Given the description of an element on the screen output the (x, y) to click on. 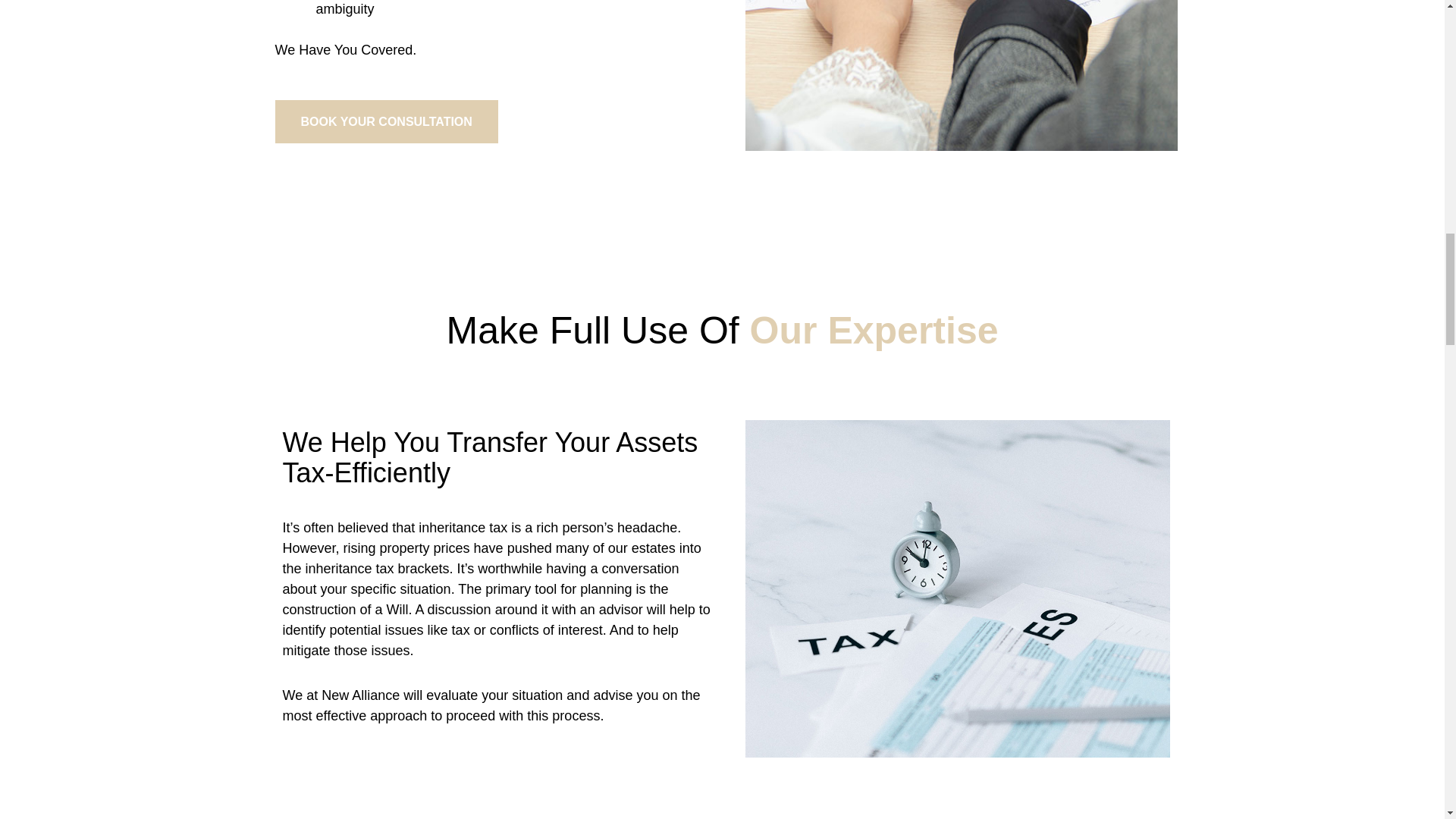
BOOK YOUR CONSULTATION (386, 121)
